Given the description of an element on the screen output the (x, y) to click on. 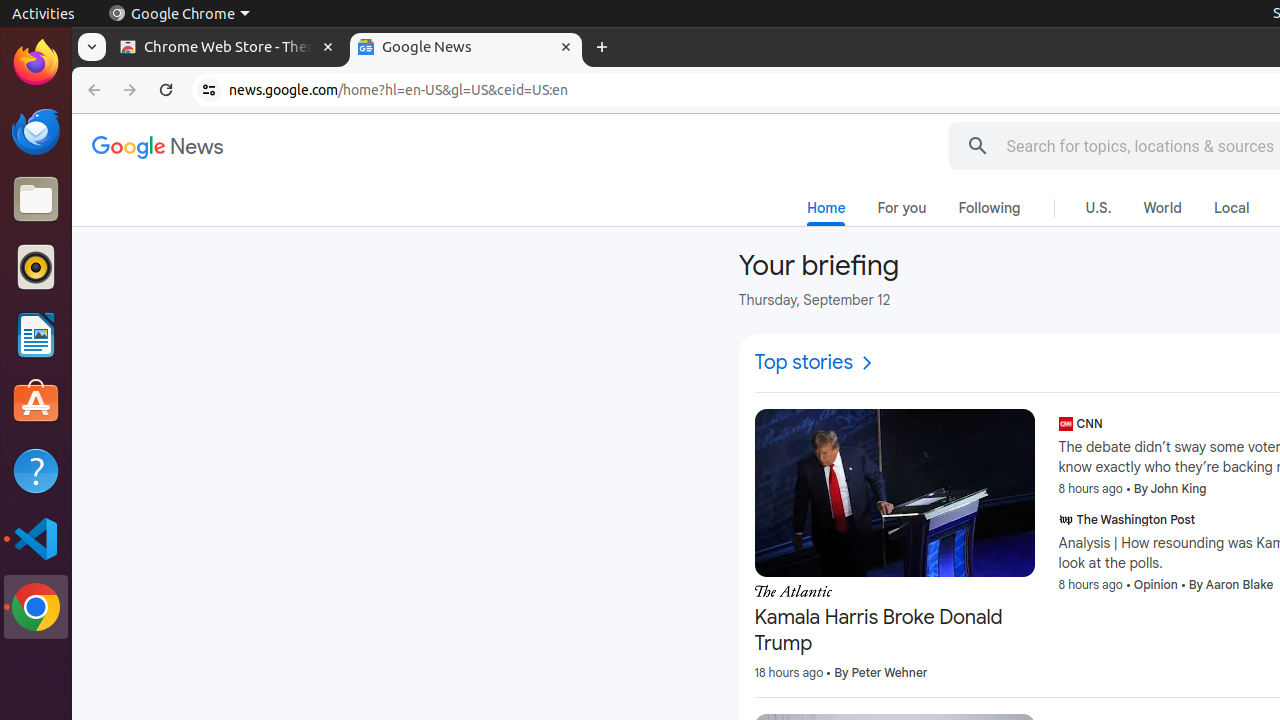
Rhythmbox Element type: push-button (36, 267)
World Element type: menu-item (1162, 208)
For you Element type: menu-item (902, 208)
Visual Studio Code Element type: push-button (36, 538)
New Tab Element type: push-button (602, 47)
